Given the description of an element on the screen output the (x, y) to click on. 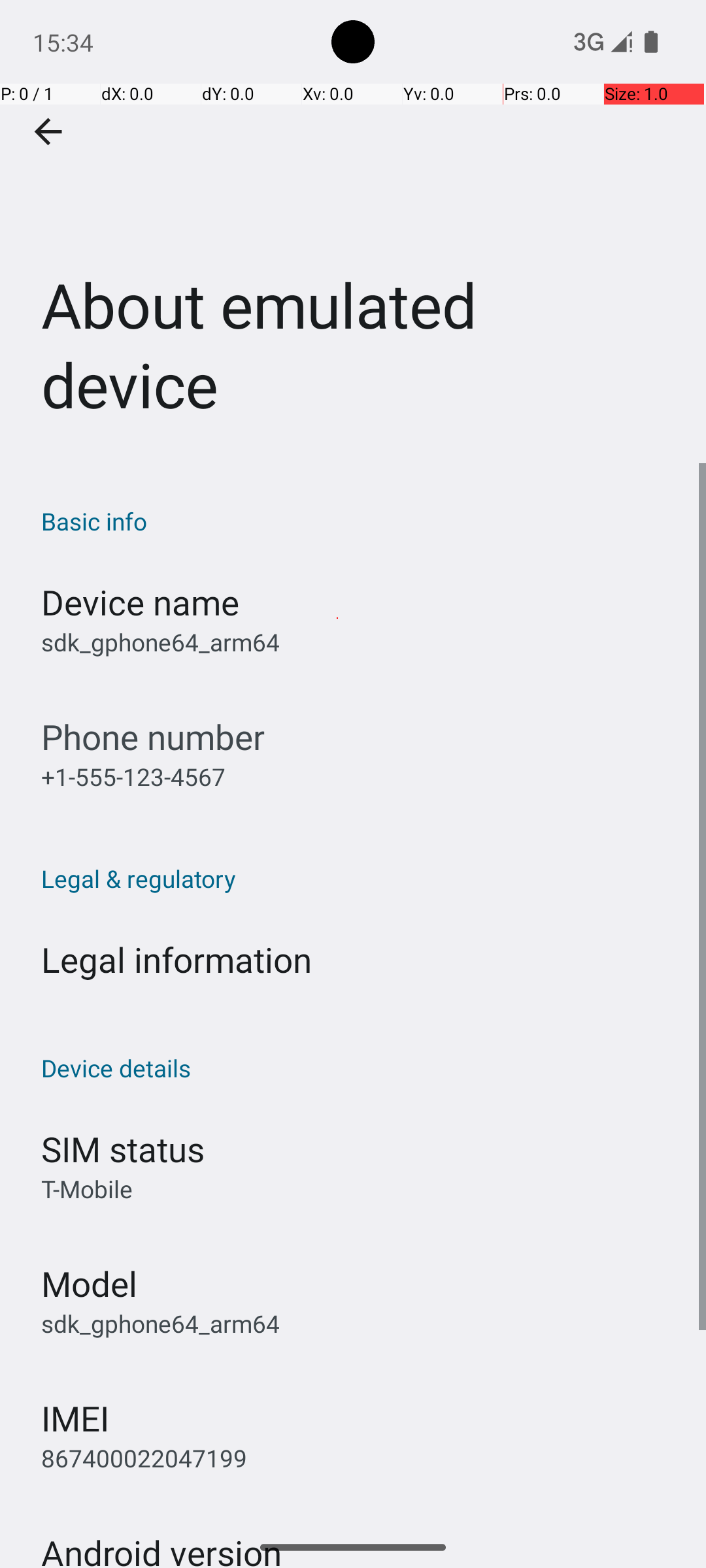
About emulated device Element type: android.widget.FrameLayout (353, 231)
Basic info Element type: android.widget.TextView (359, 520)
Device name Element type: android.widget.TextView (140, 601)
Phone number Element type: android.widget.TextView (152, 736)
+1-555-123-4567 Element type: android.widget.TextView (133, 776)
Legal & regulatory Element type: android.widget.TextView (359, 878)
Legal information Element type: android.widget.TextView (176, 959)
Device details Element type: android.widget.TextView (359, 1067)
SIM status Element type: android.widget.TextView (122, 1148)
T-Mobile Element type: android.widget.TextView (86, 1188)
Model Element type: android.widget.TextView (89, 1283)
IMEI Element type: android.widget.TextView (75, 1417)
867400022047199 Element type: android.widget.TextView (144, 1457)
